Given the description of an element on the screen output the (x, y) to click on. 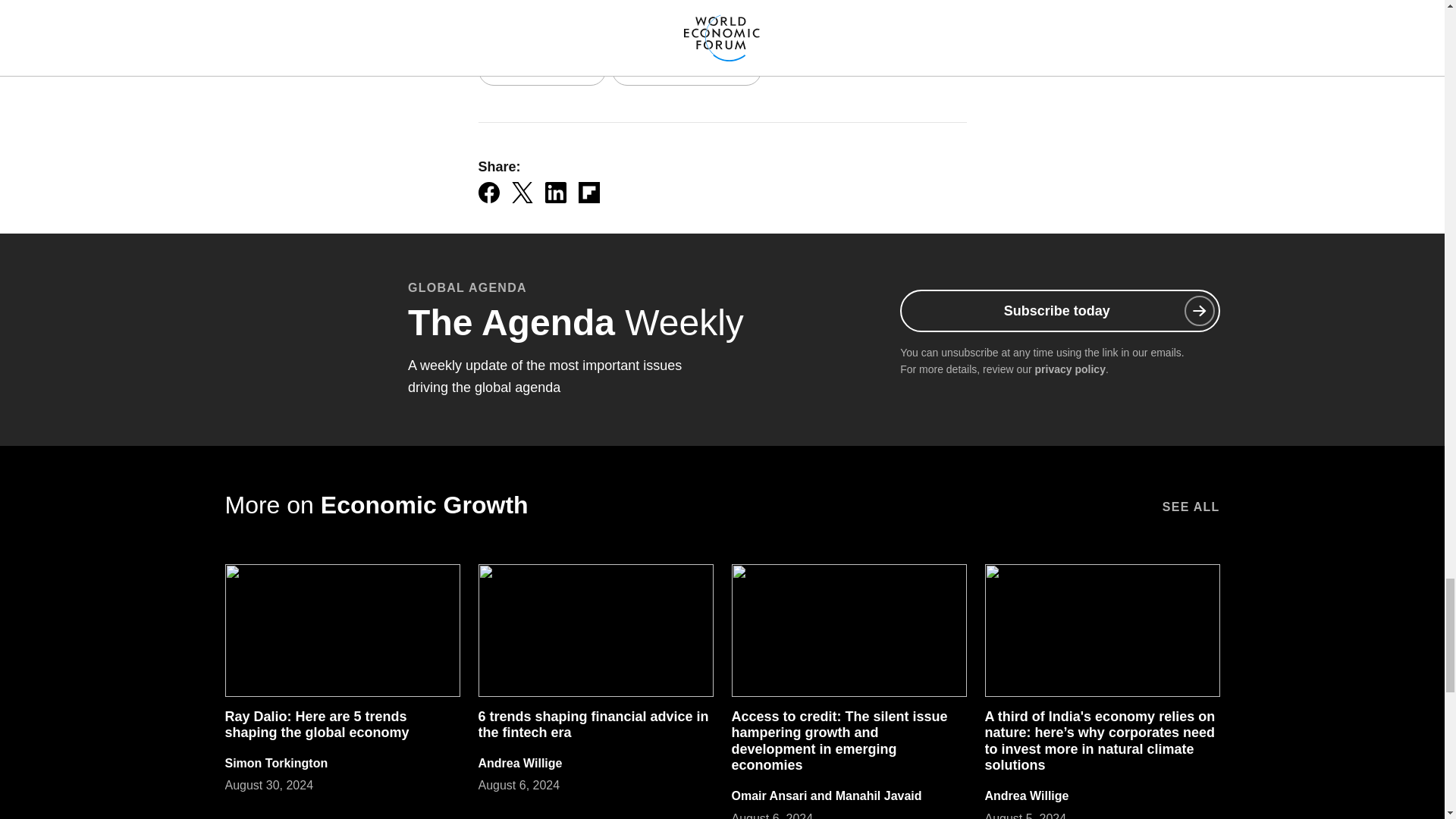
Ray Dalio: Here are 5 trends shaping the global economy (316, 725)
privacy policy (1070, 369)
Subscribe today (1059, 310)
SEE ALL (1190, 504)
Economic Growth (541, 70)
6 trends shaping financial advice in the fintech era (592, 725)
Trade and Investment (686, 70)
